Given the description of an element on the screen output the (x, y) to click on. 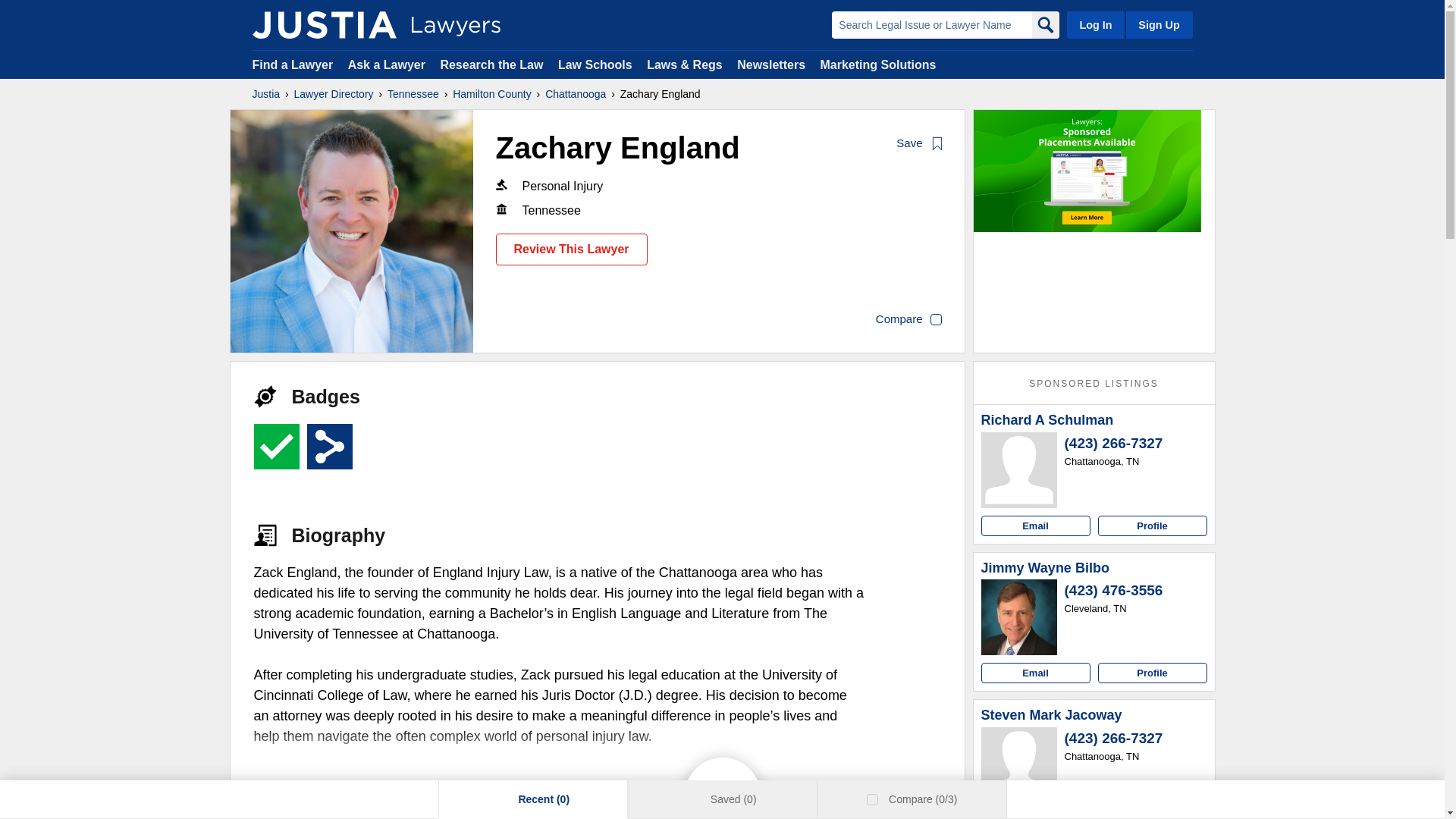
Tennessee (413, 93)
Marketing Solutions (877, 64)
Steven Mark Jacoway (1051, 715)
Search Legal Issue or Lawyer Name (930, 24)
Ask a Lawyer (388, 64)
Jimmy Wayne Bilbo (1045, 568)
Search (1044, 24)
Justia (265, 93)
Newsletters (770, 64)
Log In (1094, 24)
Richard A Schulman (1019, 469)
Compare (909, 319)
Richard A Schulman (1047, 420)
Steven Mark Jacoway (1019, 765)
Lawyer Directory (334, 93)
